Given the description of an element on the screen output the (x, y) to click on. 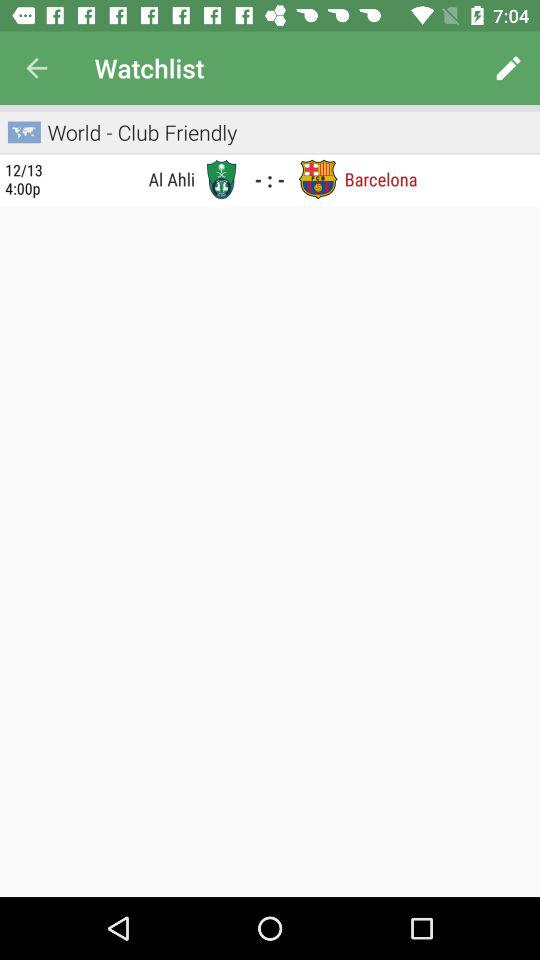
press icon next to the barcelona item (317, 179)
